Given the description of an element on the screen output the (x, y) to click on. 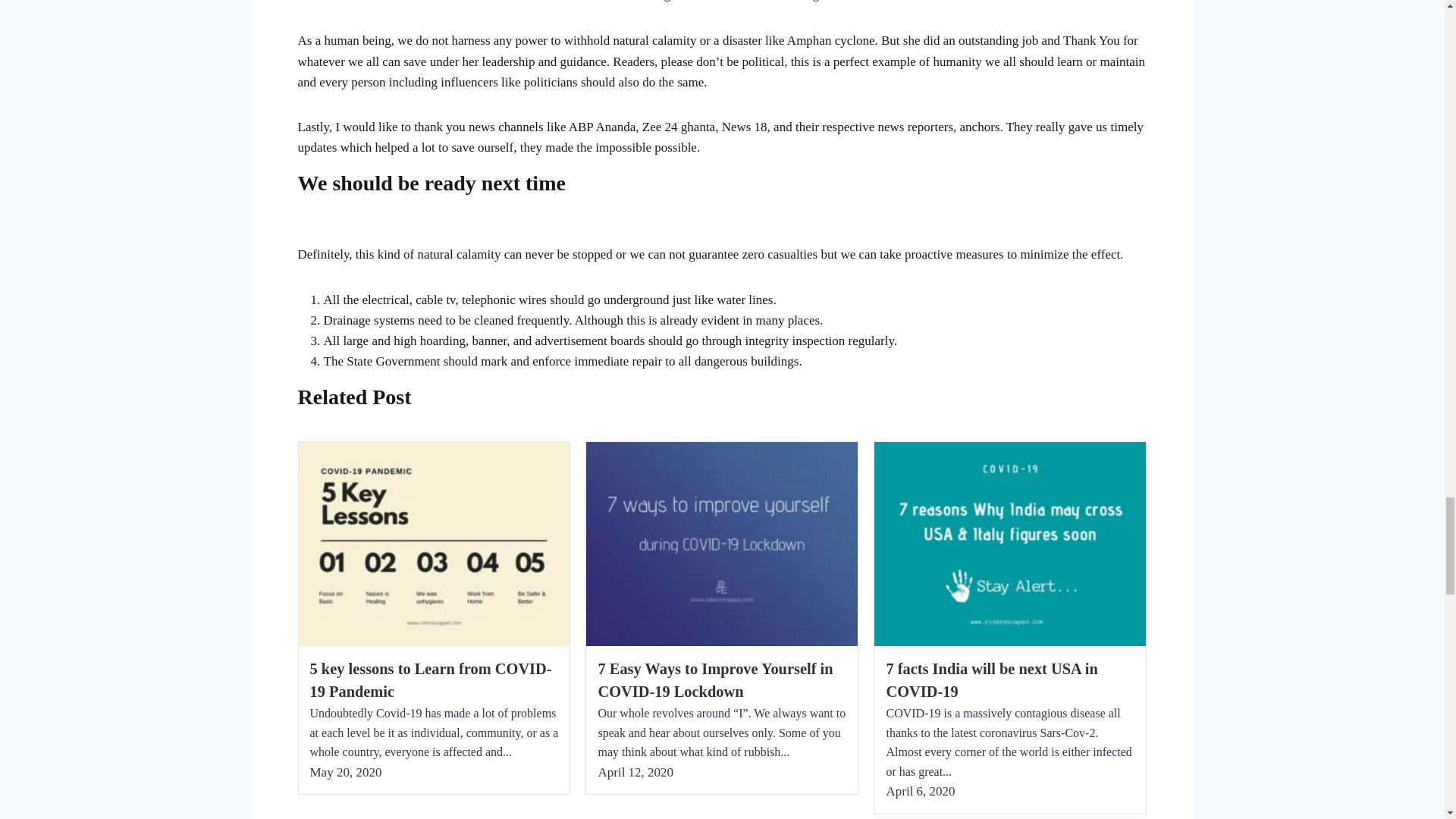
7 Easy Ways to Improve Yourself in COVID-19 Lockdown (714, 680)
7 Easy Ways to Improve Yourself in COVID-19 Lockdown (714, 680)
5 key lessons to Learn from COVID-19 Pandemic (429, 680)
7 facts India will be next USA in COVID-19 (991, 680)
7 facts India will be next USA in COVID-19 (991, 680)
5 key lessons to Learn from COVID-19 Pandemic (429, 680)
